Given the description of an element on the screen output the (x, y) to click on. 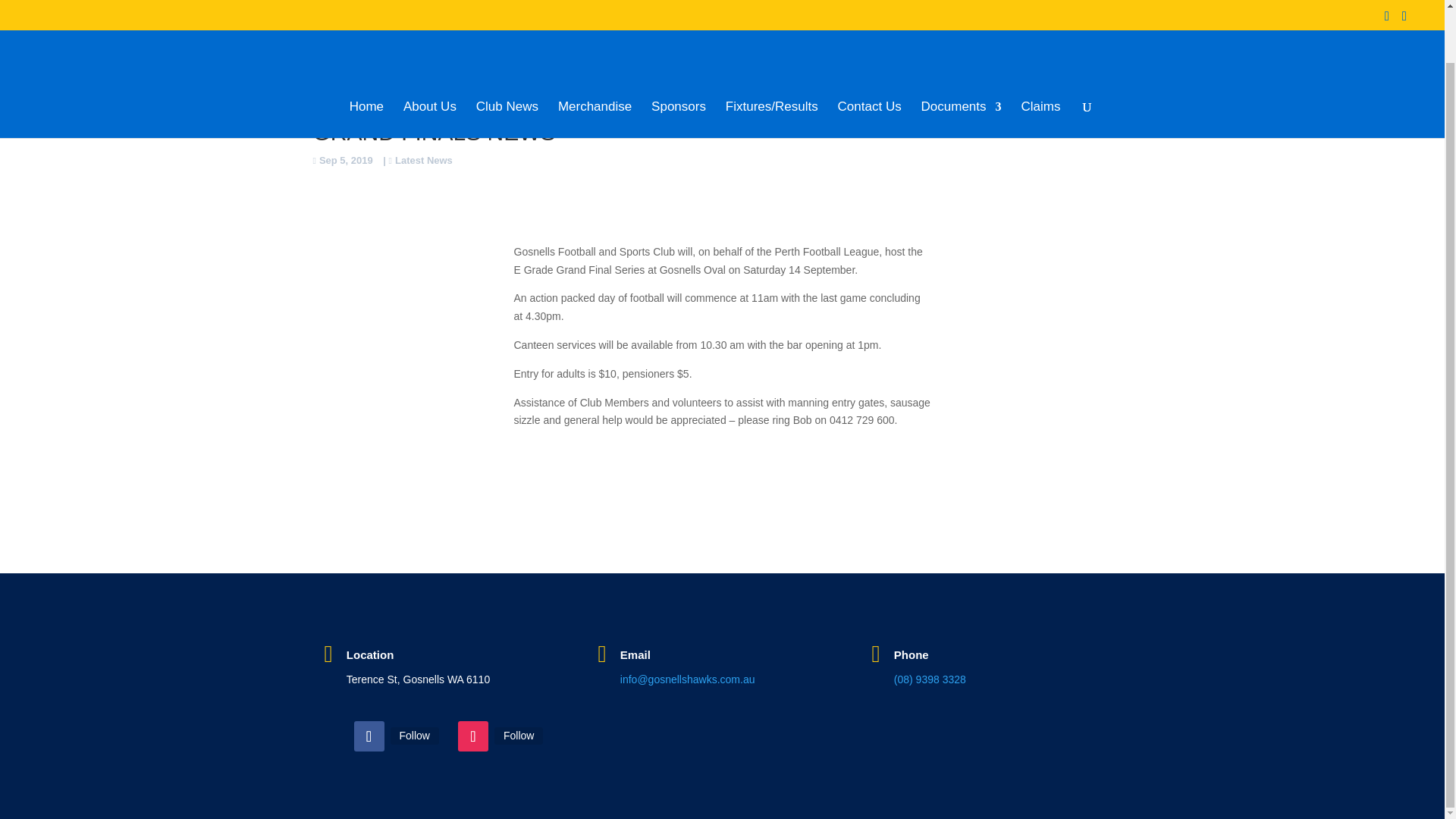
Contact Us (869, 63)
Latest News (420, 160)
About Us (430, 63)
Sponsors (678, 63)
Follow (414, 735)
Follow on Facebook (368, 736)
Instagram (519, 735)
Merchandise (594, 63)
Facebook (414, 735)
Follow on Instagram (472, 736)
